Given the description of an element on the screen output the (x, y) to click on. 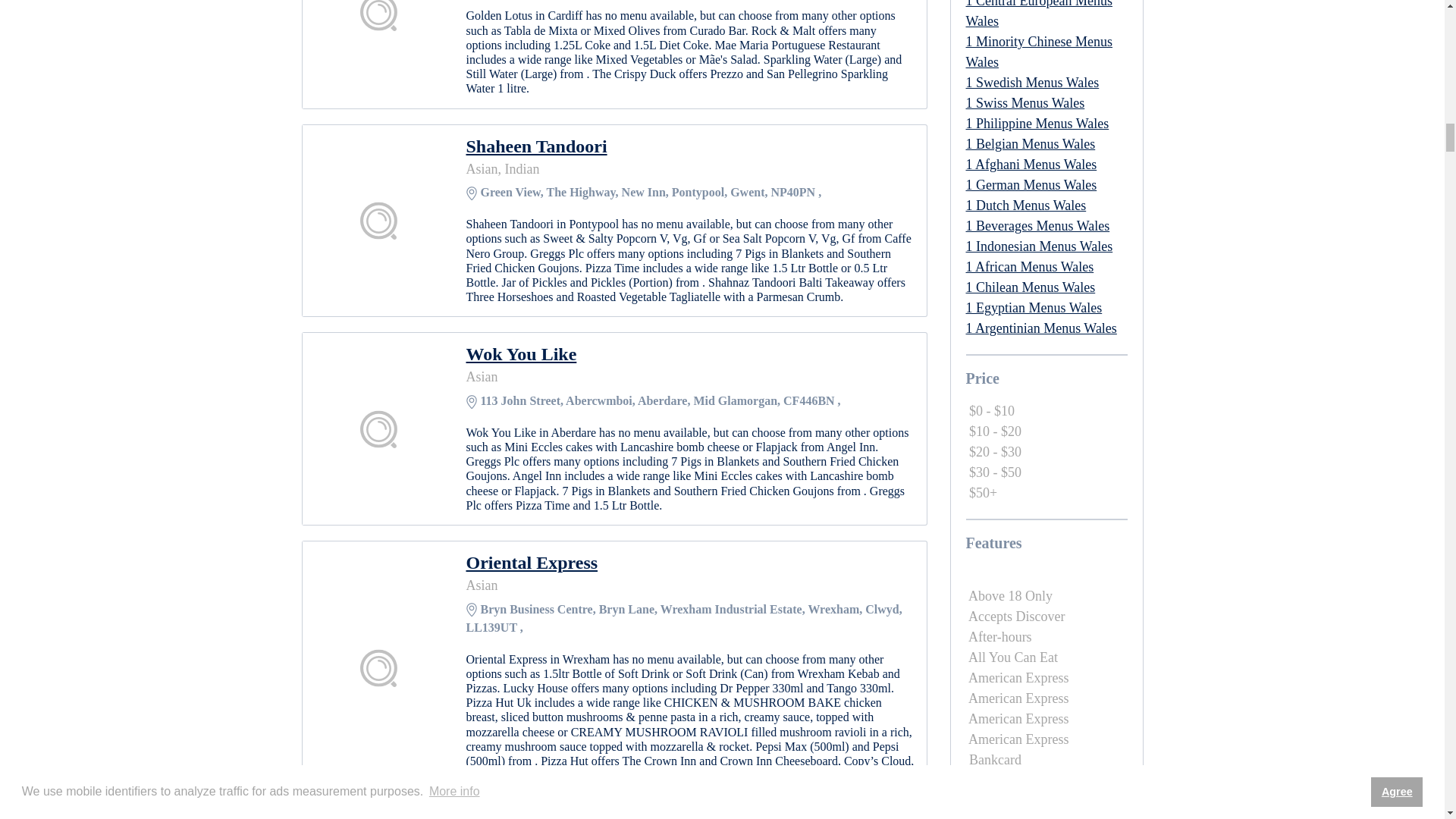
Wok You Like (689, 353)
Shaheen Tandoori (689, 146)
Oriental Express (689, 562)
